Given the description of an element on the screen output the (x, y) to click on. 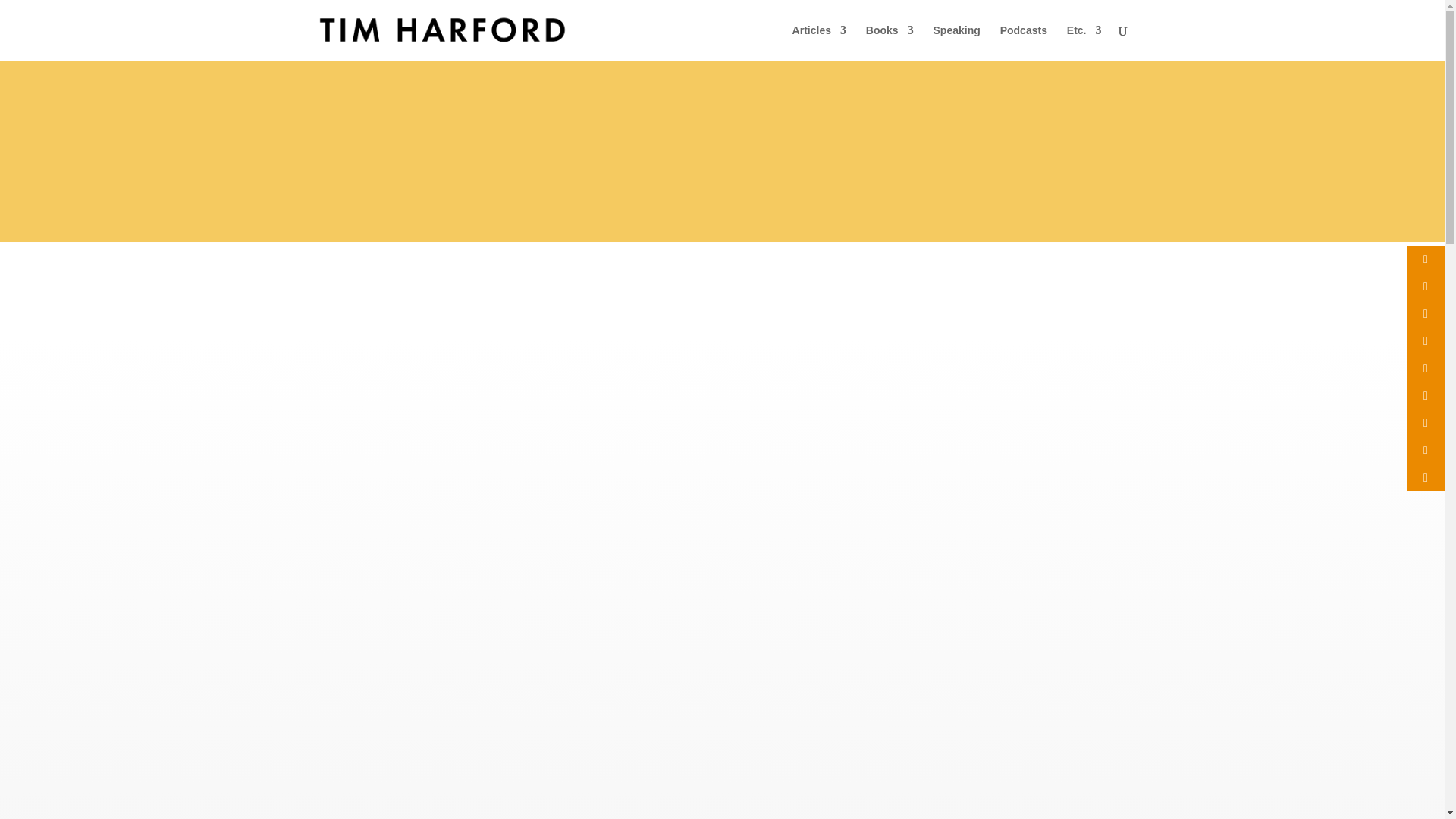
Etc. (1084, 42)
Articles (818, 42)
Books (890, 42)
Podcasts (1023, 42)
Speaking (956, 42)
